Given the description of an element on the screen output the (x, y) to click on. 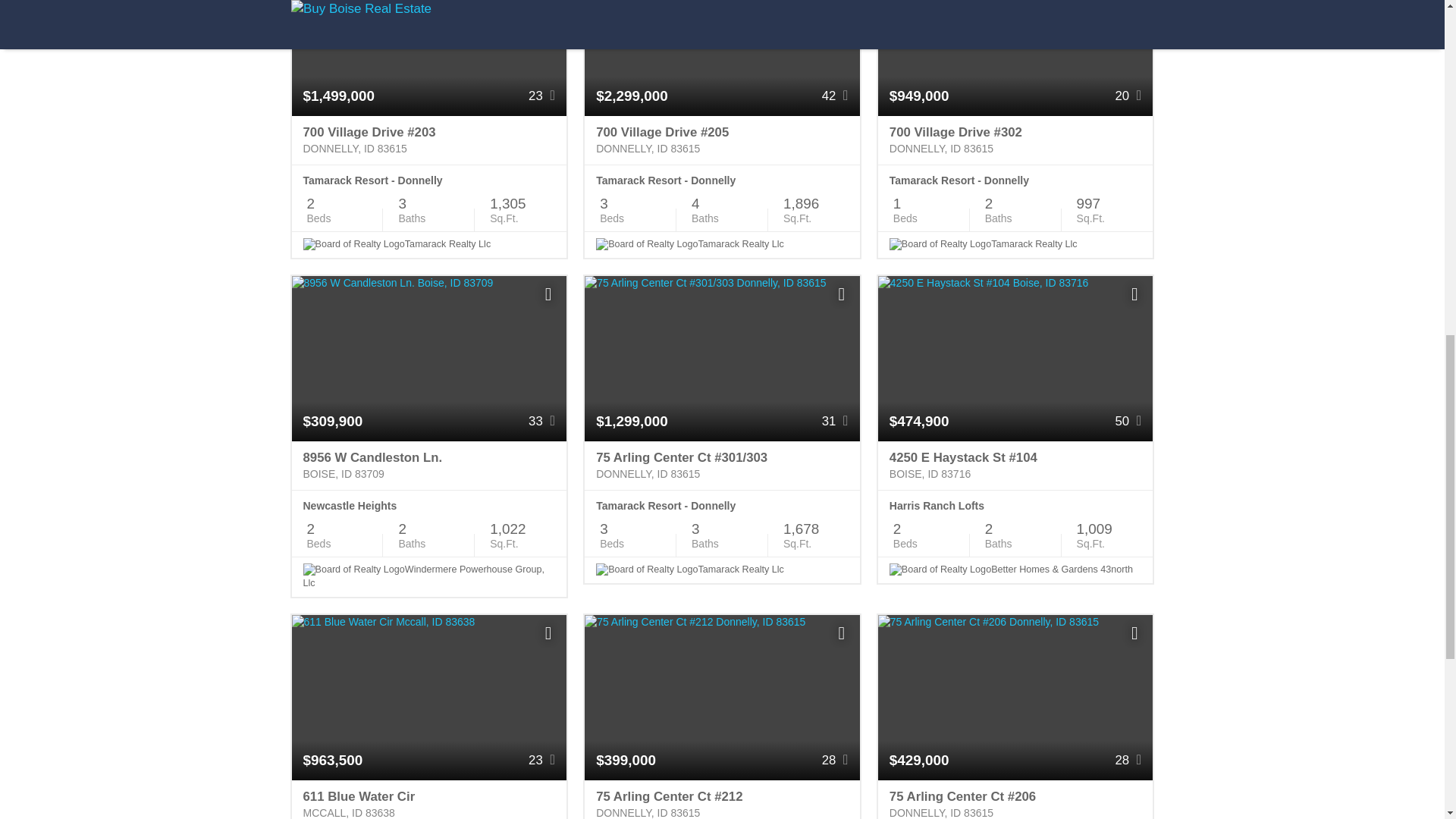
8956 W Candleston Ln. Boise,  ID 83709 (428, 465)
